Given the description of an element on the screen output the (x, y) to click on. 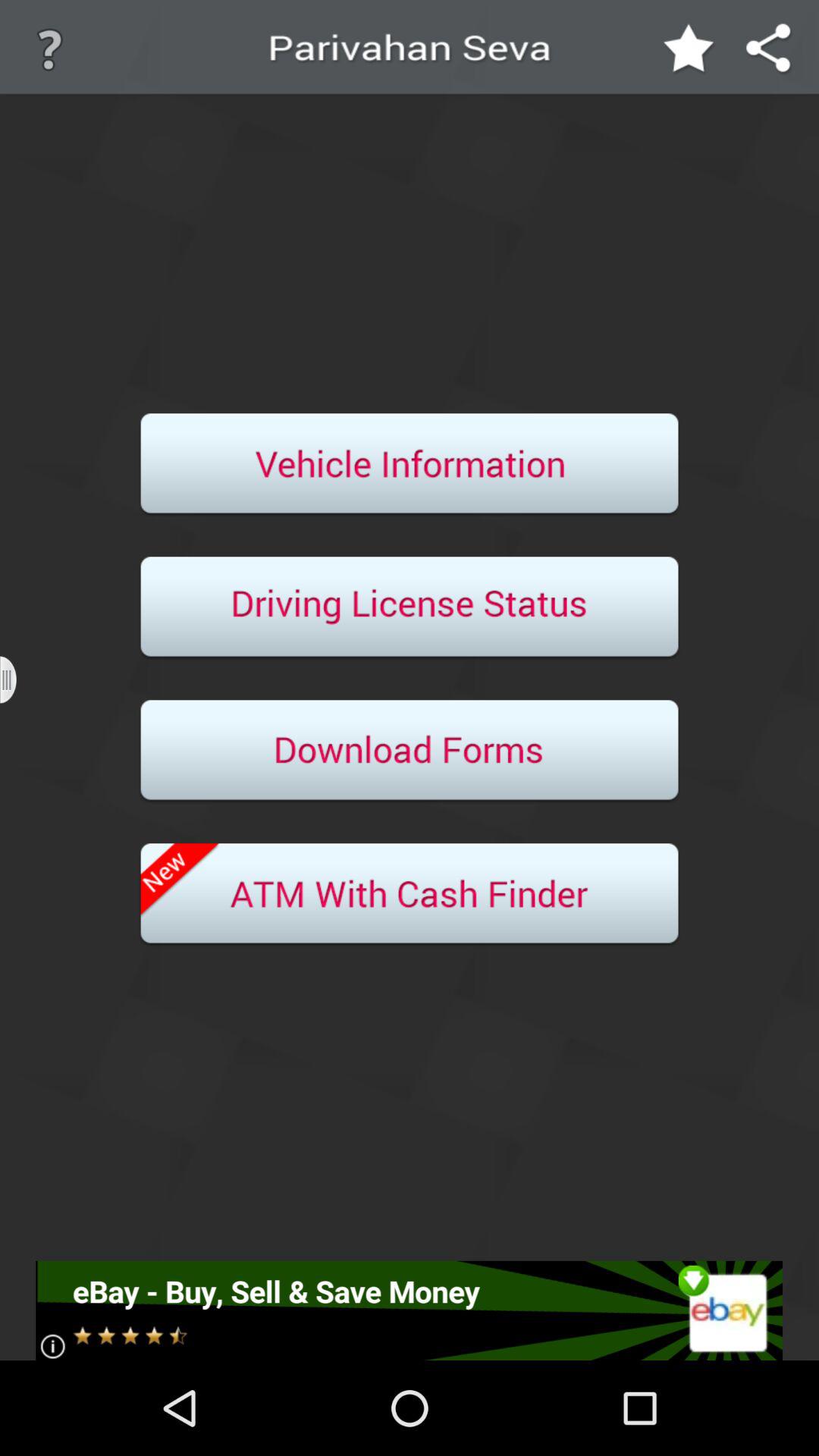
advertisement click (408, 1310)
